Given the description of an element on the screen output the (x, y) to click on. 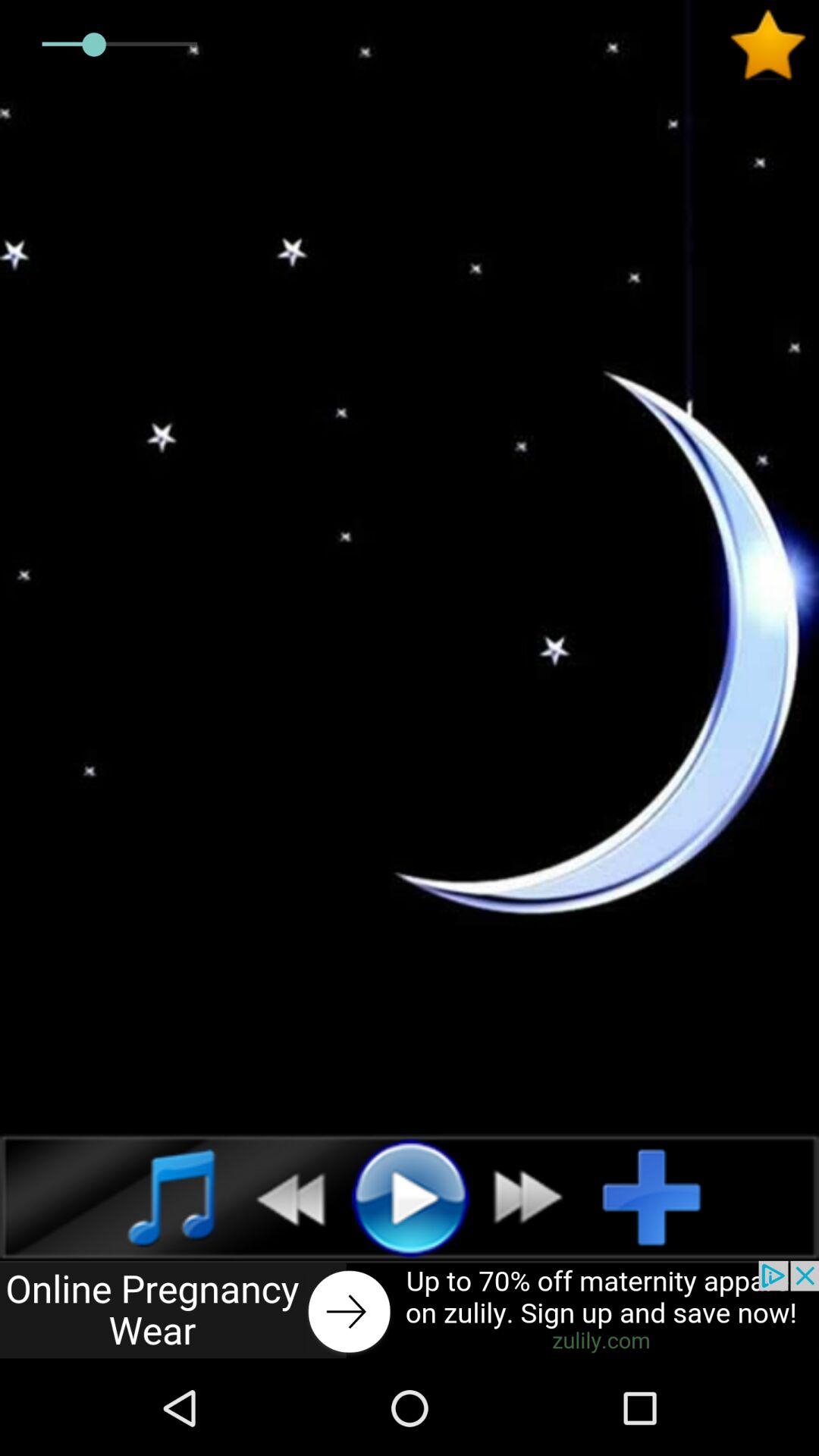
go to music option (154, 1196)
